Given the description of an element on the screen output the (x, y) to click on. 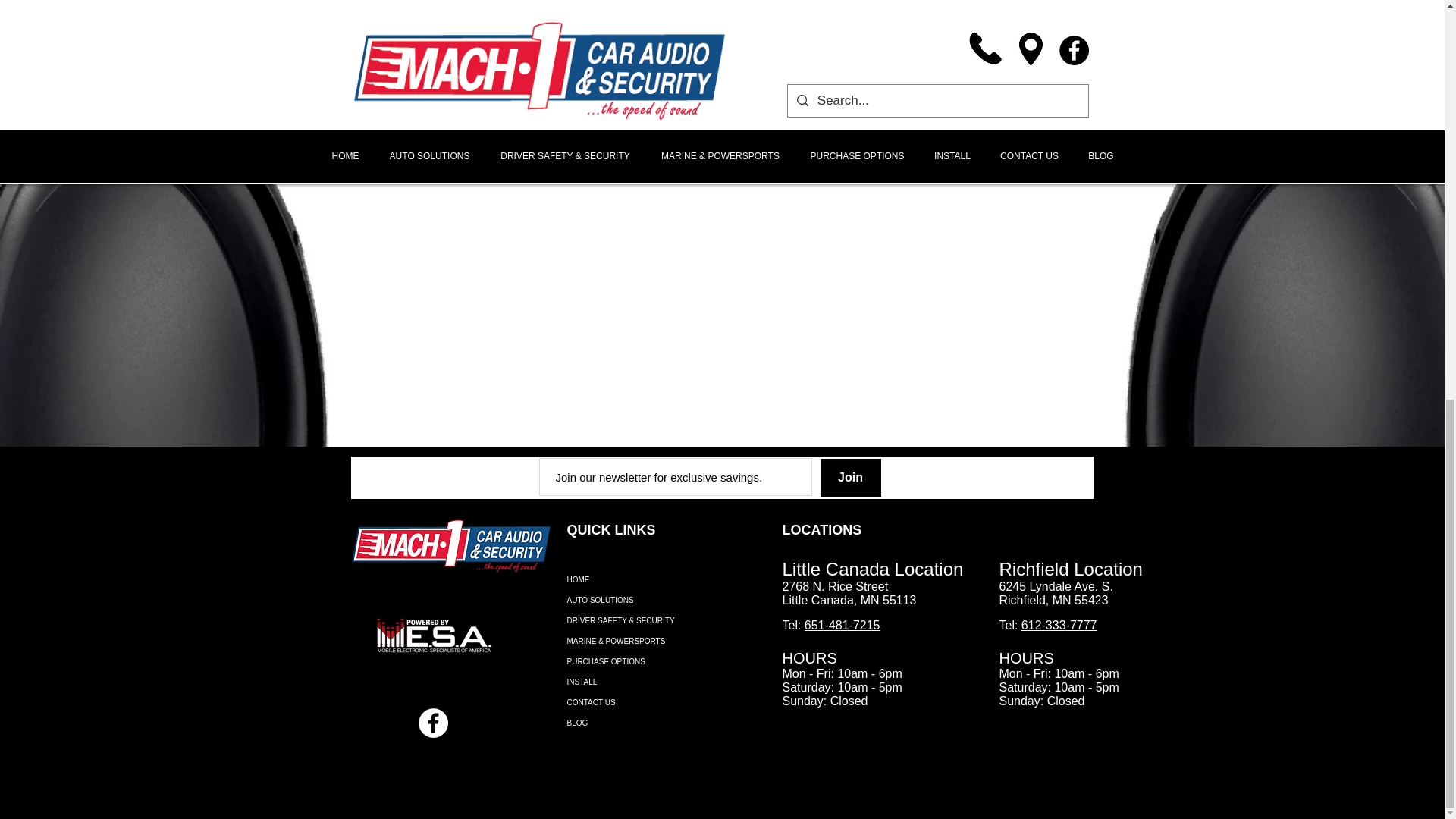
Join (850, 477)
HOME (665, 579)
AUTO SOLUTIONS (665, 599)
